Given the description of an element on the screen output the (x, y) to click on. 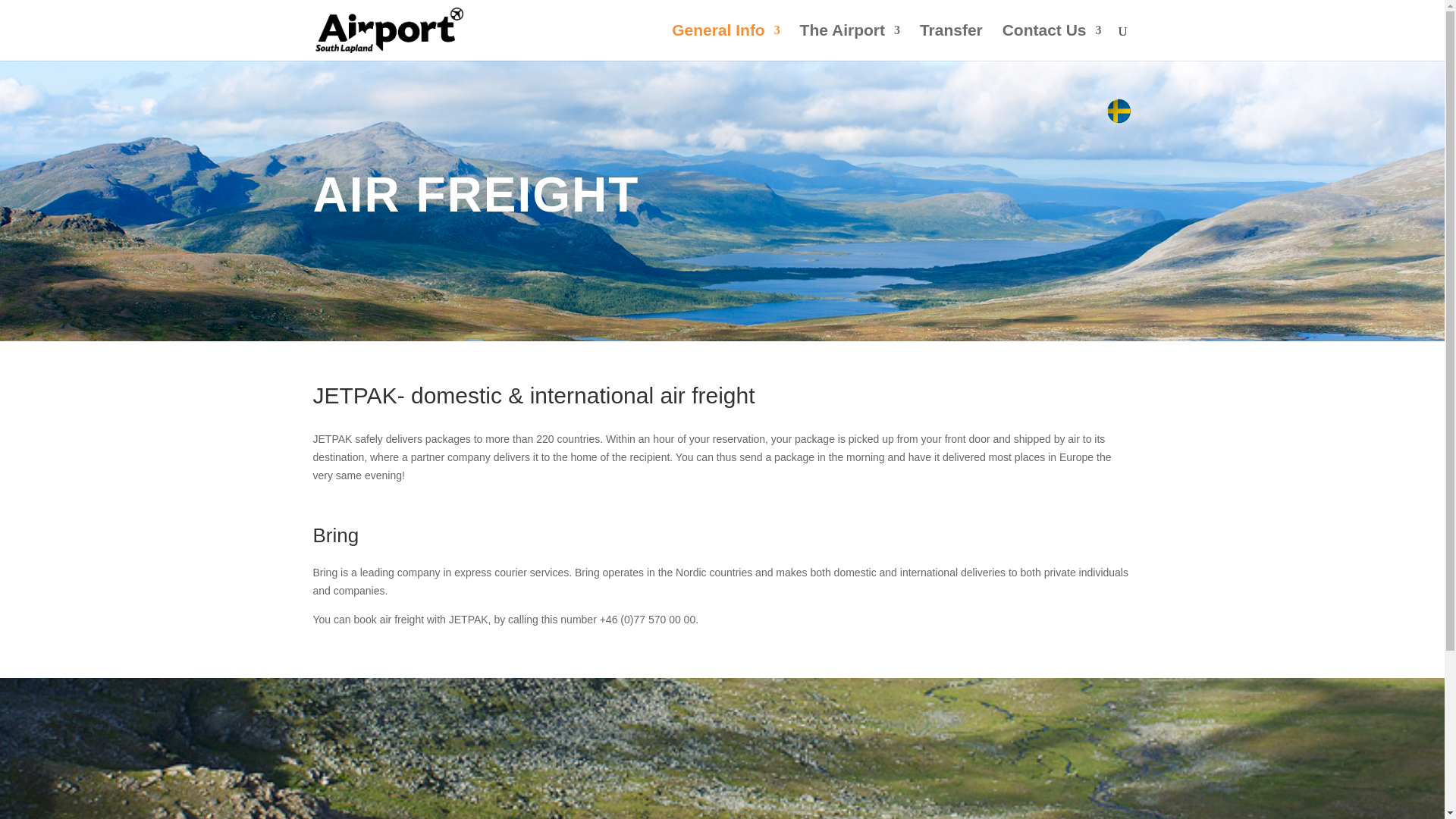
Contact Us (1052, 42)
General Info (725, 42)
Transfer (951, 42)
The Airport (849, 42)
